Given the description of an element on the screen output the (x, y) to click on. 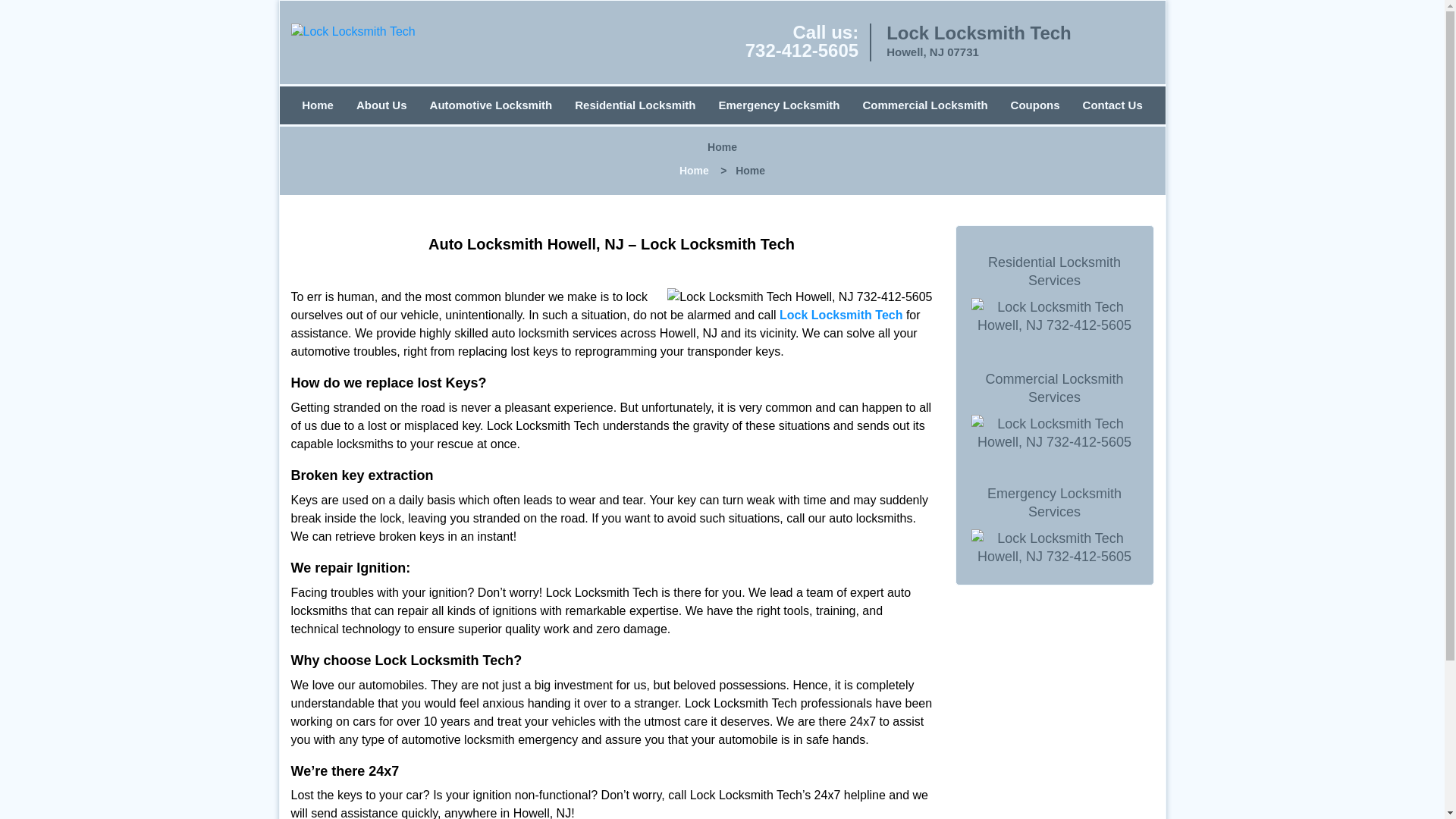
Coupons (1034, 105)
Lock Locksmith Tech Howell, NJ 732-412-5605 (1054, 316)
Contact Us (1112, 105)
732-412-5605 (802, 50)
Automotive Locksmith (491, 105)
About Us (382, 105)
Emergency Locksmith (778, 105)
Residential Locksmith (634, 105)
Emergency Locksmith Services (1054, 502)
Lock Locksmith Tech (840, 314)
Lock Locksmith Tech (352, 31)
Commercial Locksmith Services (1054, 388)
Lock Locksmith Tech Howell, NJ 732-412-5605 (1054, 547)
Commercial Locksmith (924, 105)
Lock Locksmith Tech Howell, NJ 732-412-5605 (798, 297)
